Given the description of an element on the screen output the (x, y) to click on. 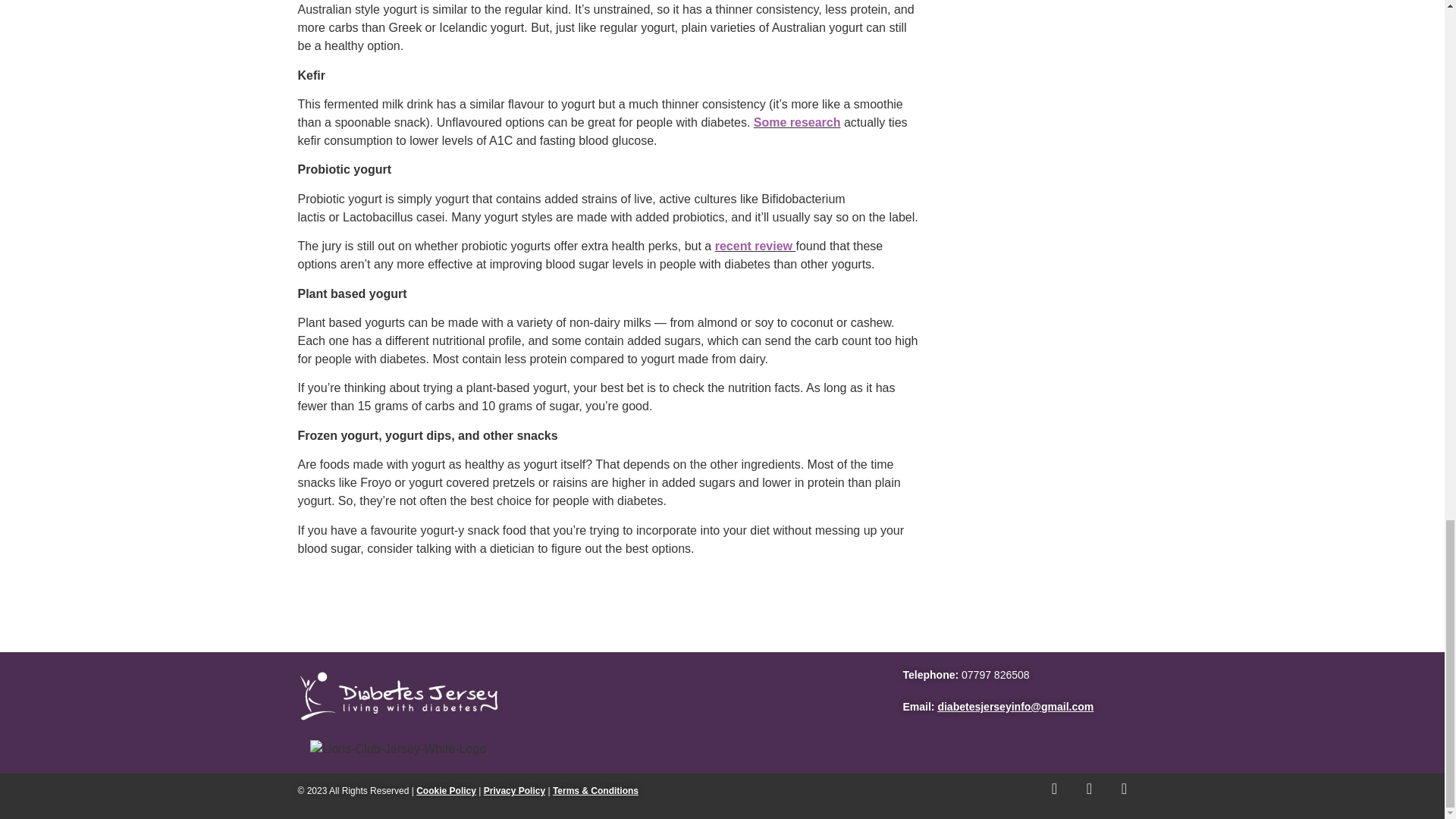
Lions-Club-Jersey-White-Logo (398, 749)
